Given the description of an element on the screen output the (x, y) to click on. 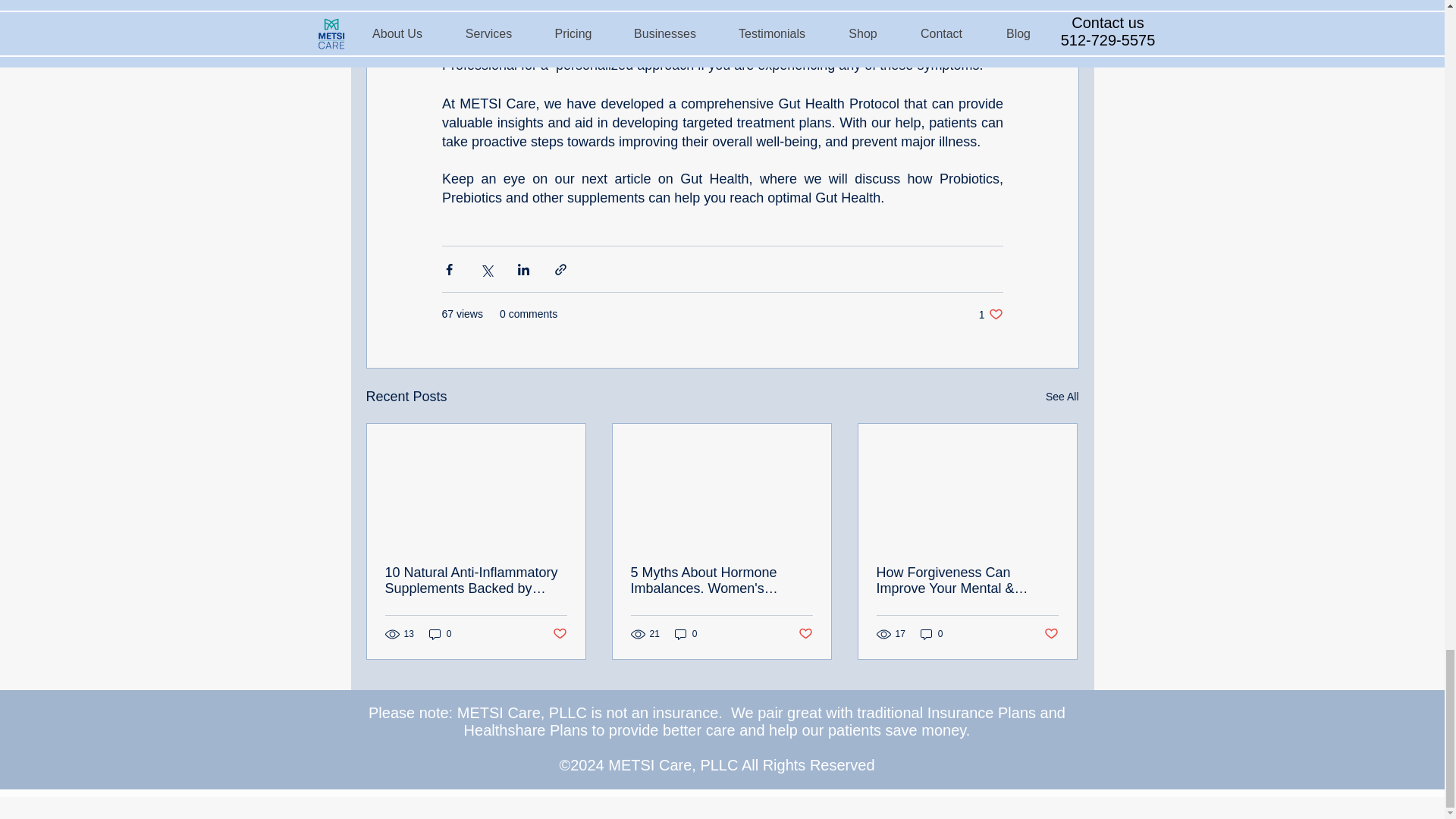
Post not marked as liked (558, 634)
10 Natural Anti-Inflammatory Supplements Backed by Science (476, 581)
Post not marked as liked (1050, 634)
See All (1061, 396)
0 (931, 634)
0 (685, 634)
Post not marked as liked (804, 634)
0 (440, 634)
